Given the description of an element on the screen output the (x, y) to click on. 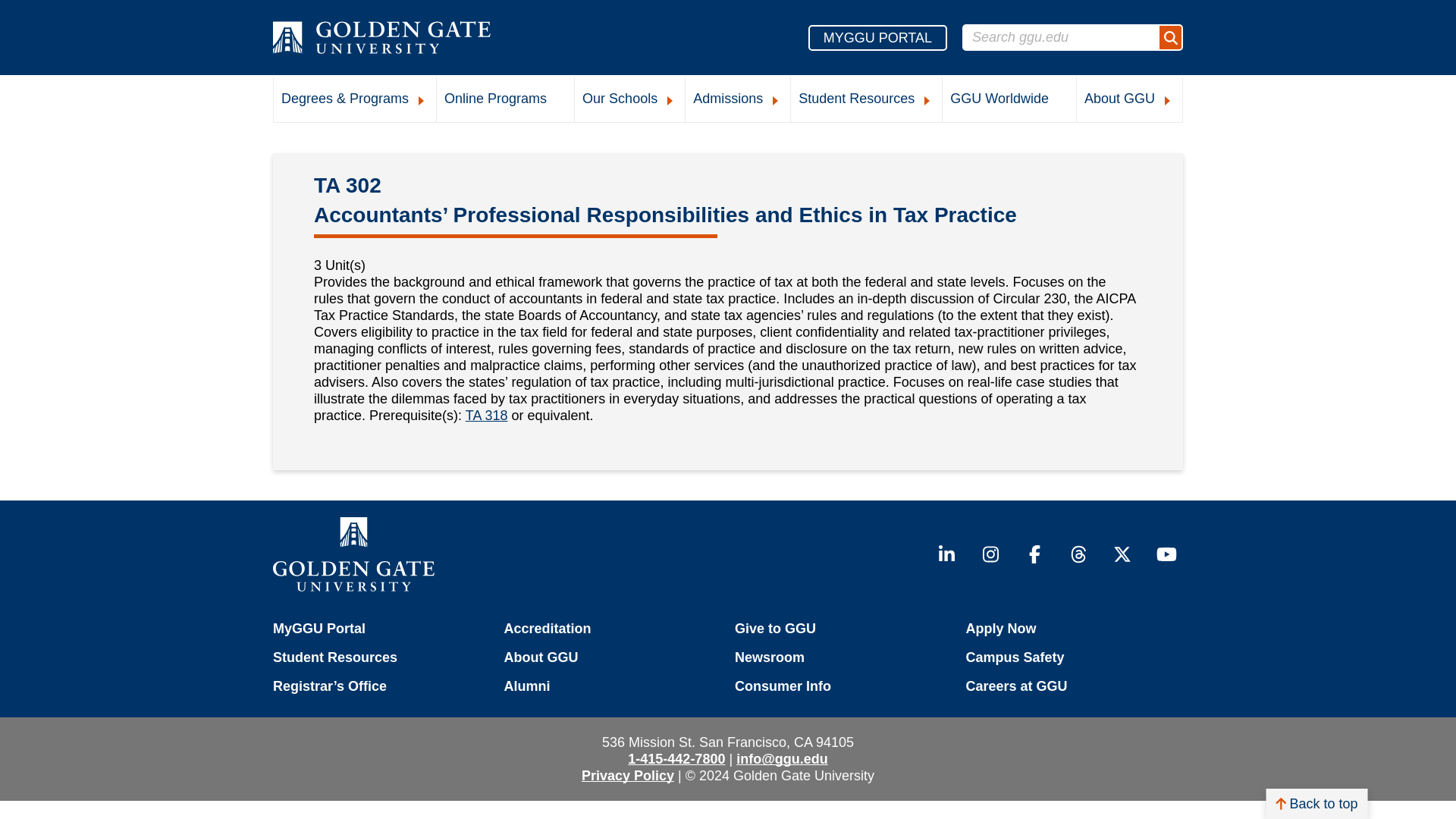
Expand Admissions Submenu (775, 100)
Expand About GGU Submenu (1167, 100)
Search (1169, 37)
MYGGU PORTAL (877, 36)
Admissions (737, 100)
GGU on Youtube (1166, 554)
About GGU (1129, 100)
GGU Worldwide (1008, 100)
Student Resources (866, 100)
Our Schools (629, 100)
